Given the description of an element on the screen output the (x, y) to click on. 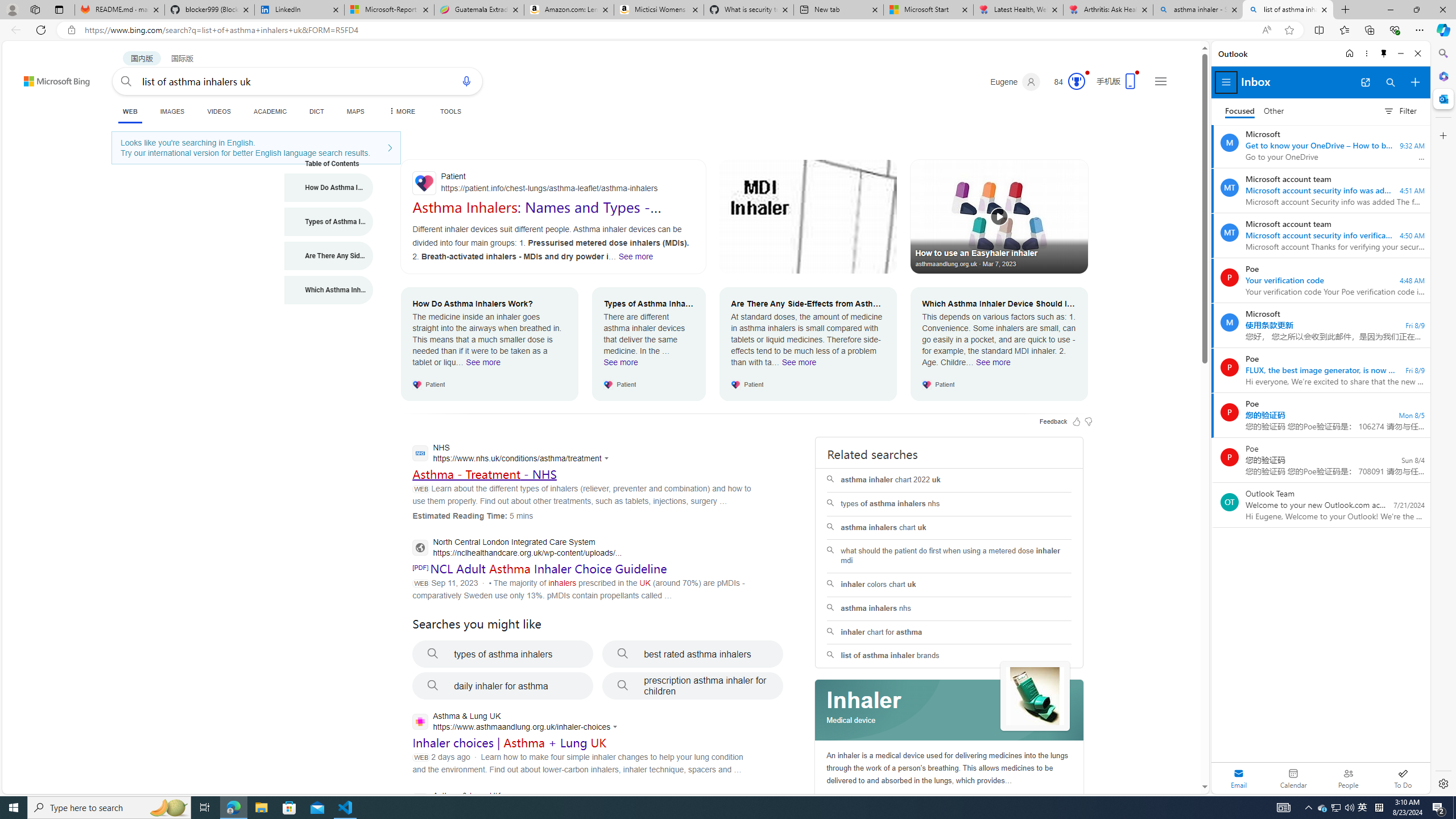
TOOLS (450, 111)
asthma inhaler chart 2022 uk (949, 480)
types of asthma inhalers (503, 653)
types of asthma inhalers nhs (949, 504)
AutomationID: mfa_root (1161, 752)
Calendar. Date today is 22 (1293, 777)
